Given the description of an element on the screen output the (x, y) to click on. 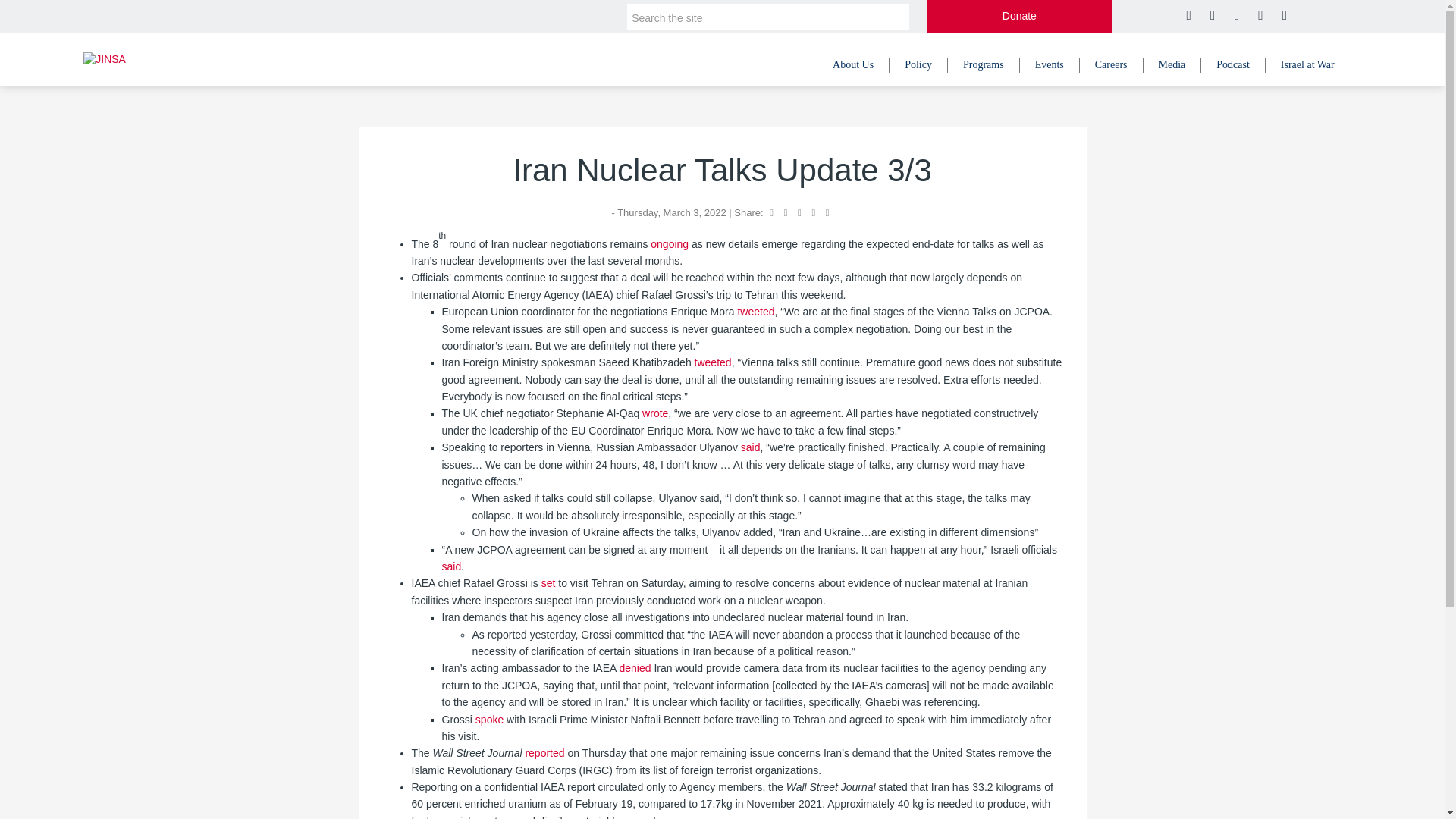
Policy (918, 64)
reported (544, 752)
JINSA (103, 59)
Israel at War (1307, 64)
said (750, 447)
rss (1283, 14)
wrote (655, 413)
About Us (852, 64)
spoke (489, 718)
Programs (983, 64)
ongoing (669, 244)
youtube (1258, 14)
said (451, 566)
tweeted (755, 311)
Media (1172, 64)
